Given the description of an element on the screen output the (x, y) to click on. 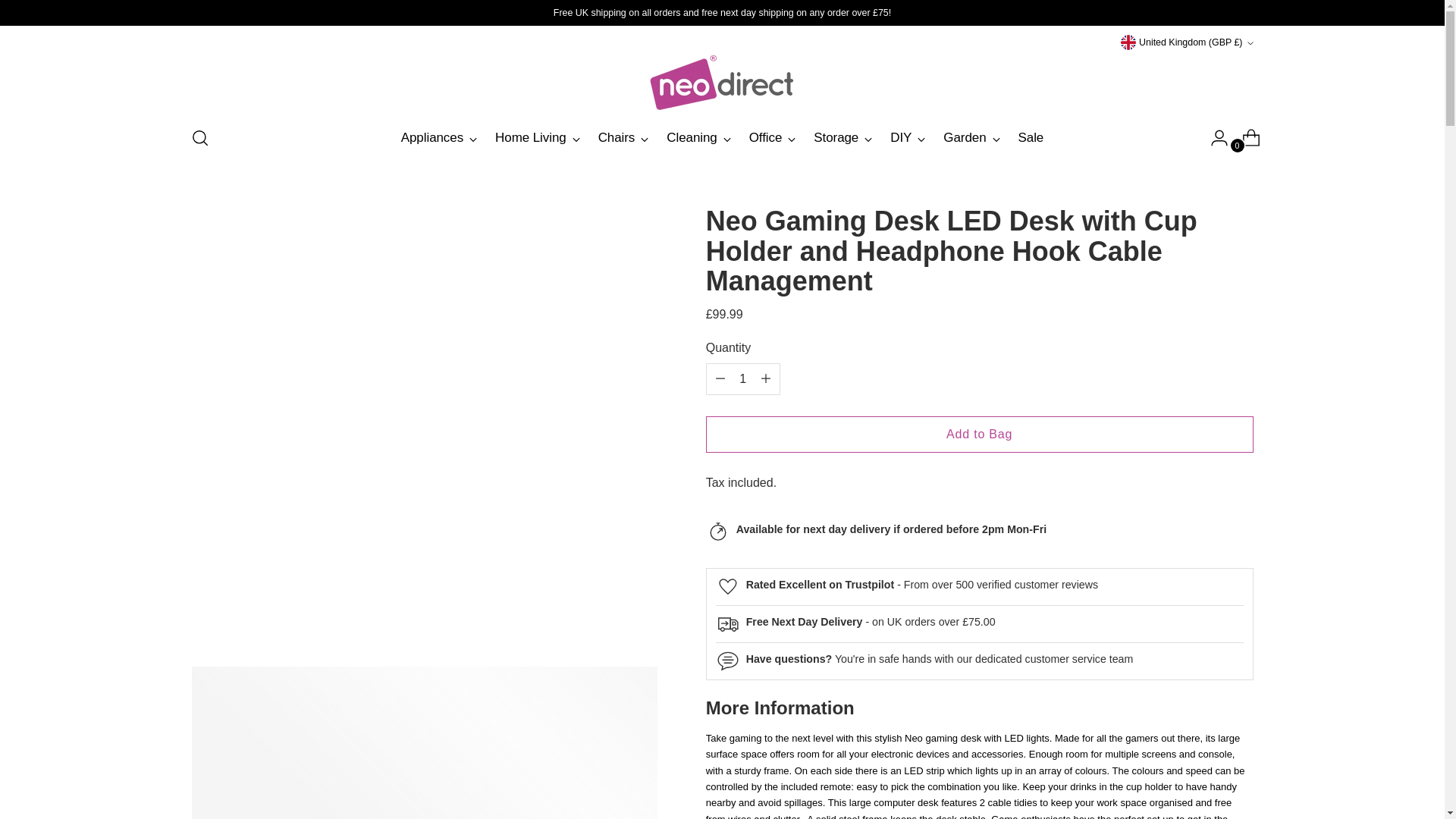
1 (743, 378)
Appliances (439, 137)
